Given the description of an element on the screen output the (x, y) to click on. 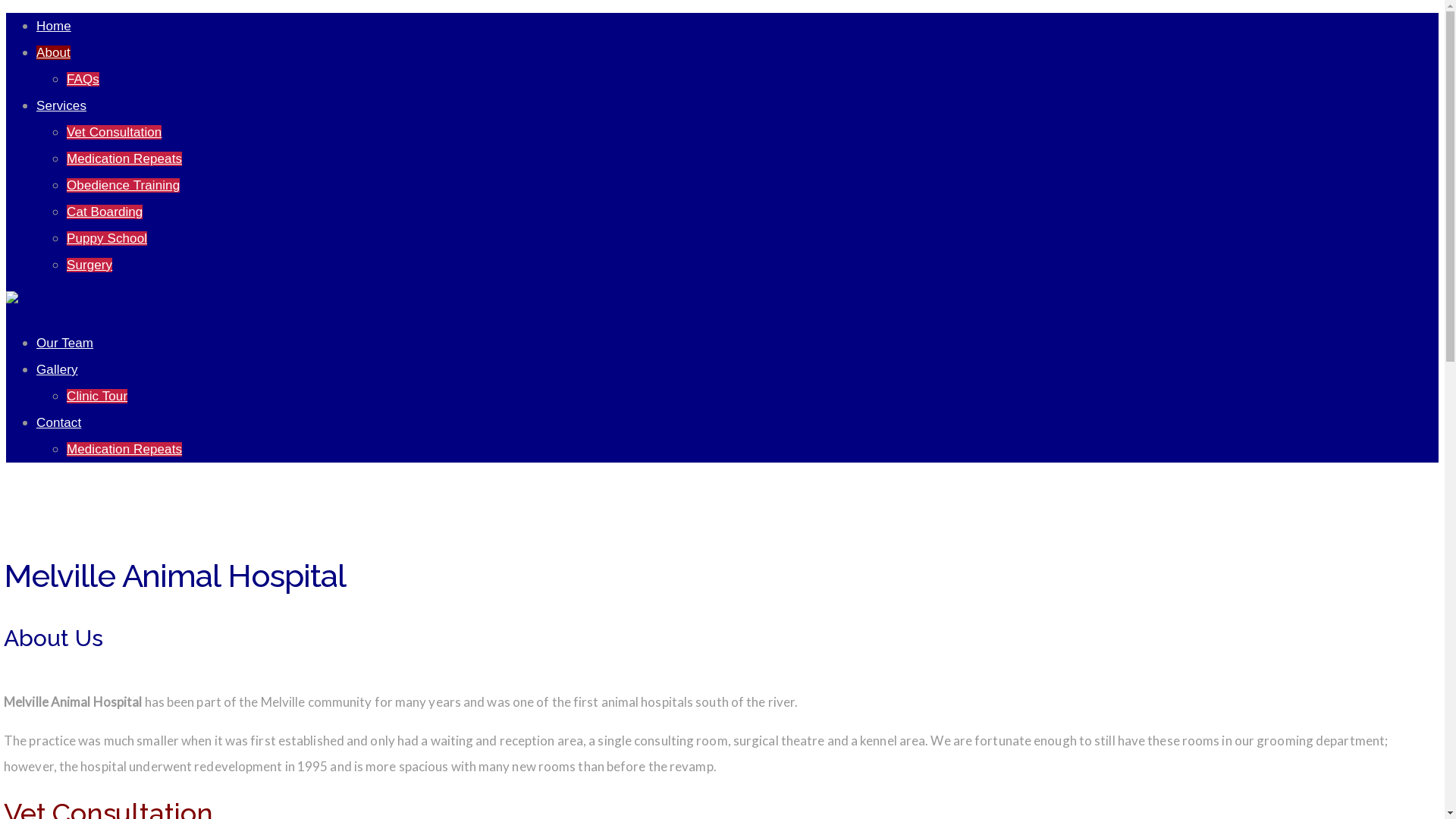
Medication Repeats Element type: text (124, 158)
Home Element type: text (53, 25)
FAQs Element type: text (82, 79)
Our Team Element type: text (64, 342)
Surgery Element type: text (89, 264)
Gallery Element type: text (57, 369)
Services Element type: text (61, 105)
Contact Element type: text (58, 422)
Vet Consultation Element type: text (113, 132)
Obedience Training Element type: text (122, 185)
Puppy School Element type: text (106, 238)
About Element type: text (53, 52)
Clinic Tour Element type: text (96, 396)
Cat Boarding Element type: text (104, 211)
Medication Repeats Element type: text (124, 449)
